Given the description of an element on the screen output the (x, y) to click on. 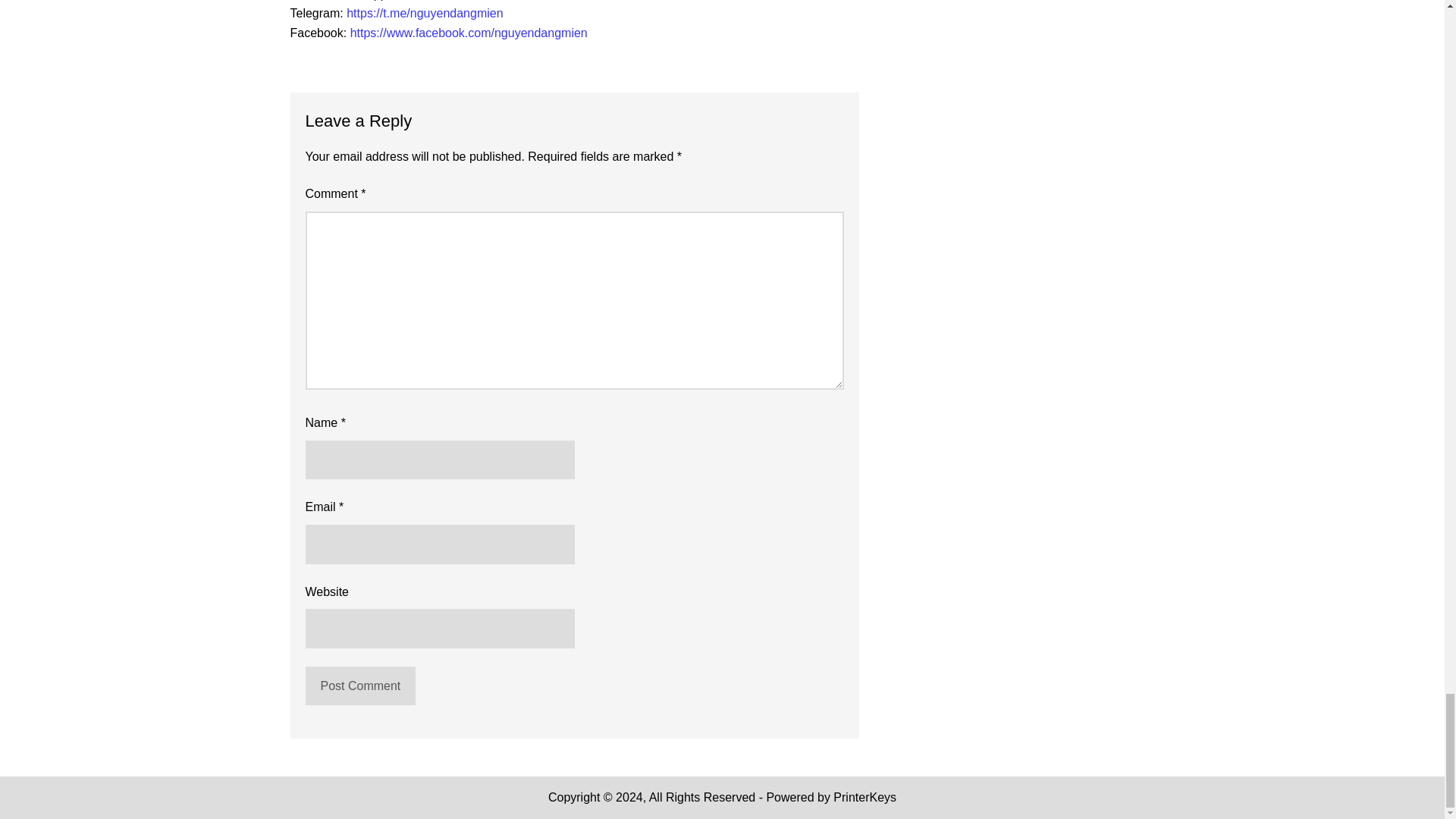
Post Comment (359, 685)
Post Comment (359, 685)
